Given the description of an element on the screen output the (x, y) to click on. 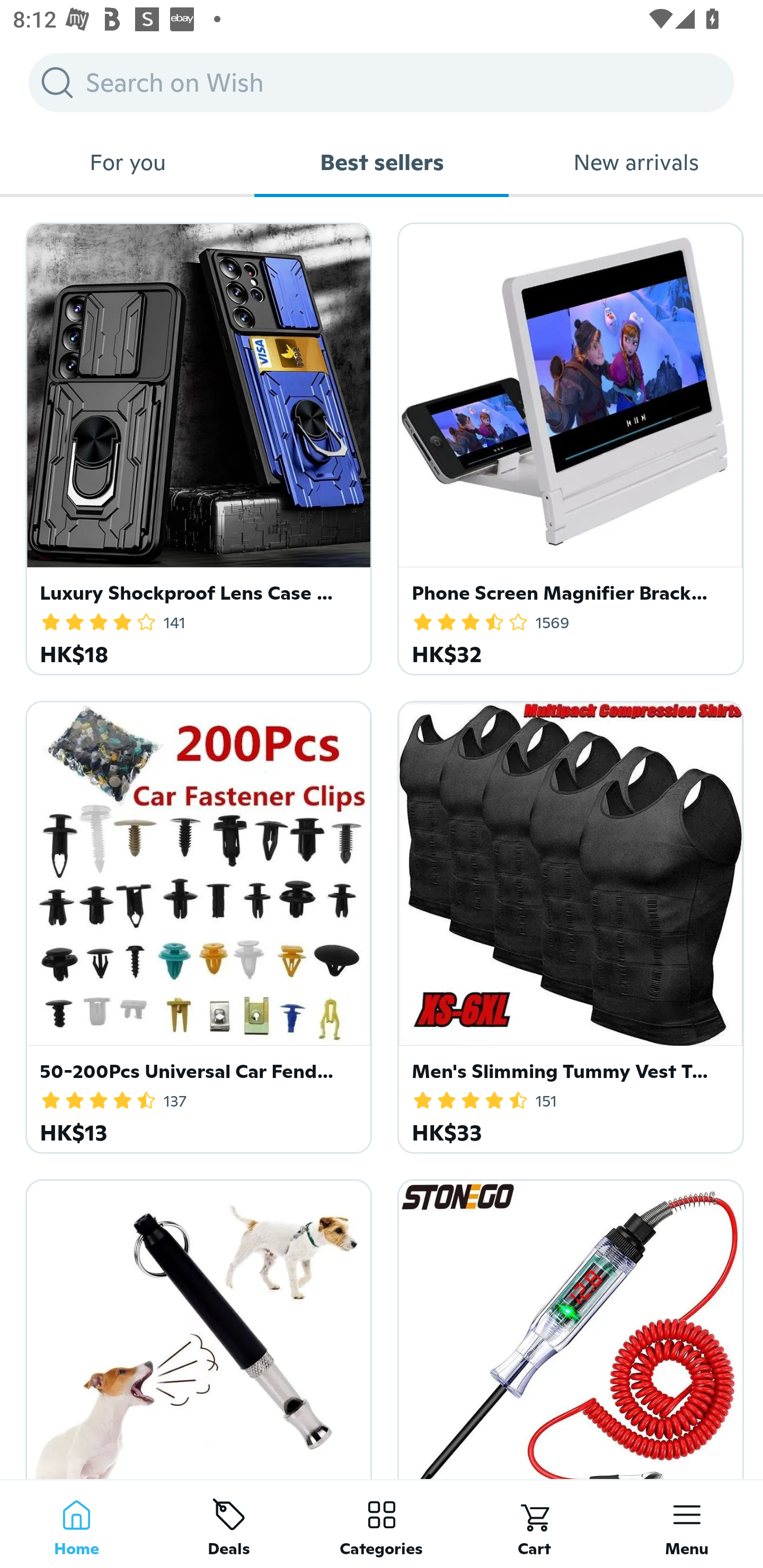
Search on Wish (381, 82)
For you (127, 161)
Best sellers (381, 161)
New arrivals (635, 161)
Home (76, 1523)
Deals (228, 1523)
Categories (381, 1523)
Cart (533, 1523)
Menu (686, 1523)
